Given the description of an element on the screen output the (x, y) to click on. 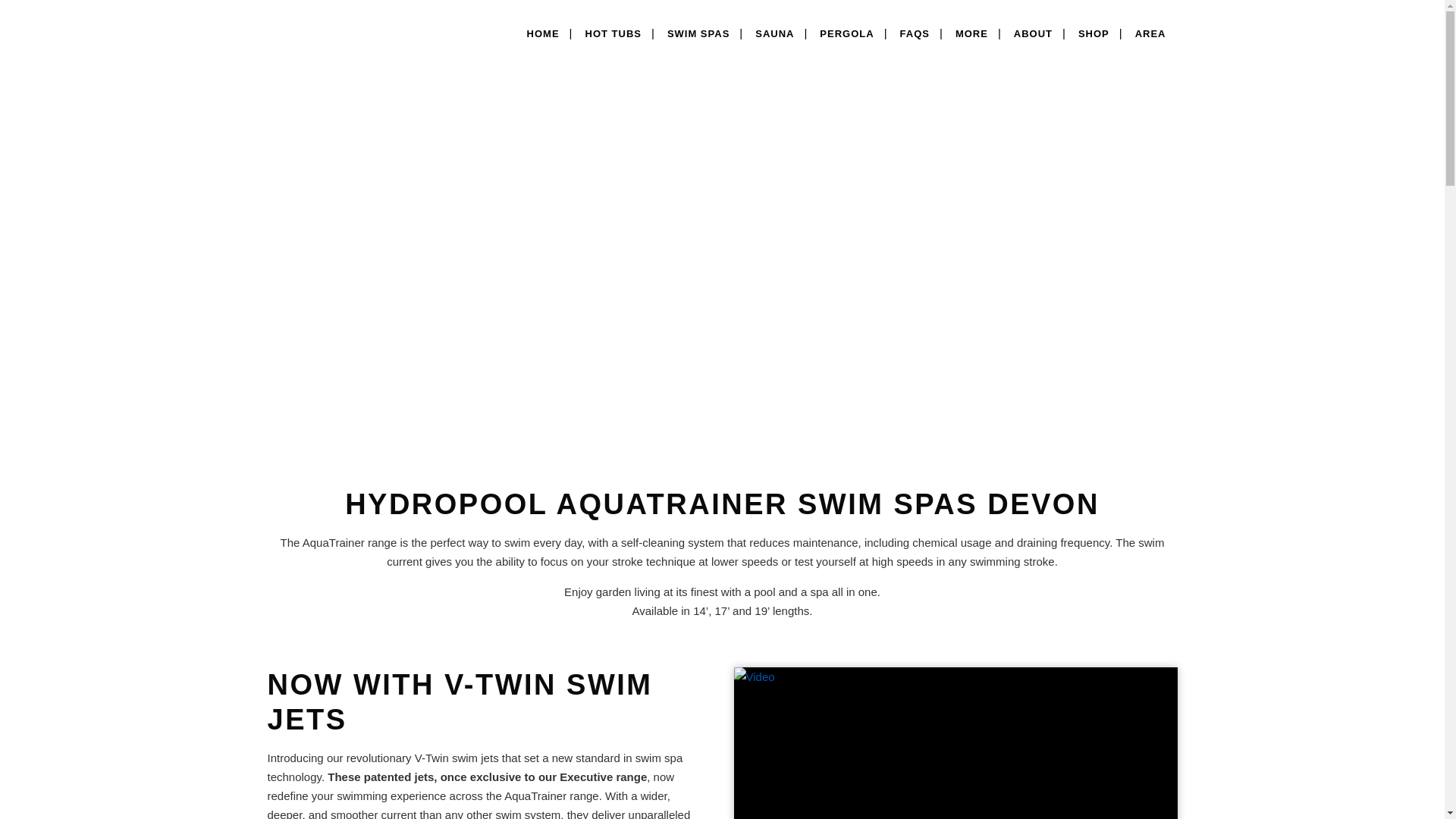
HOT TUBS (612, 33)
HOME (542, 25)
ABOUT (1033, 33)
SWIM SPAS (698, 33)
PERGOLA (846, 33)
SAUNA (774, 33)
